Given the description of an element on the screen output the (x, y) to click on. 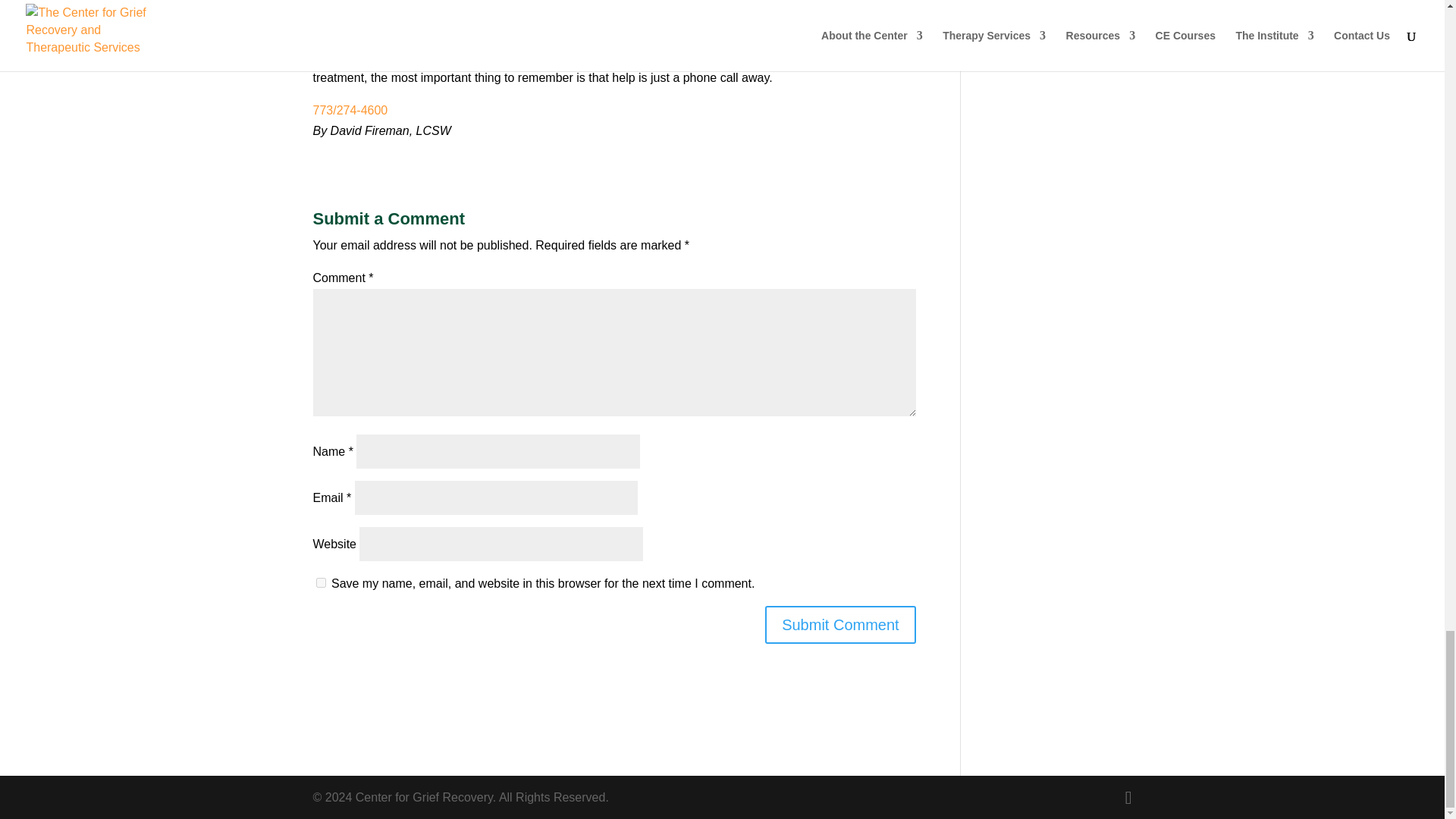
our trained staff can talk to you (468, 35)
Submit Comment (840, 624)
yes (319, 583)
